Given the description of an element on the screen output the (x, y) to click on. 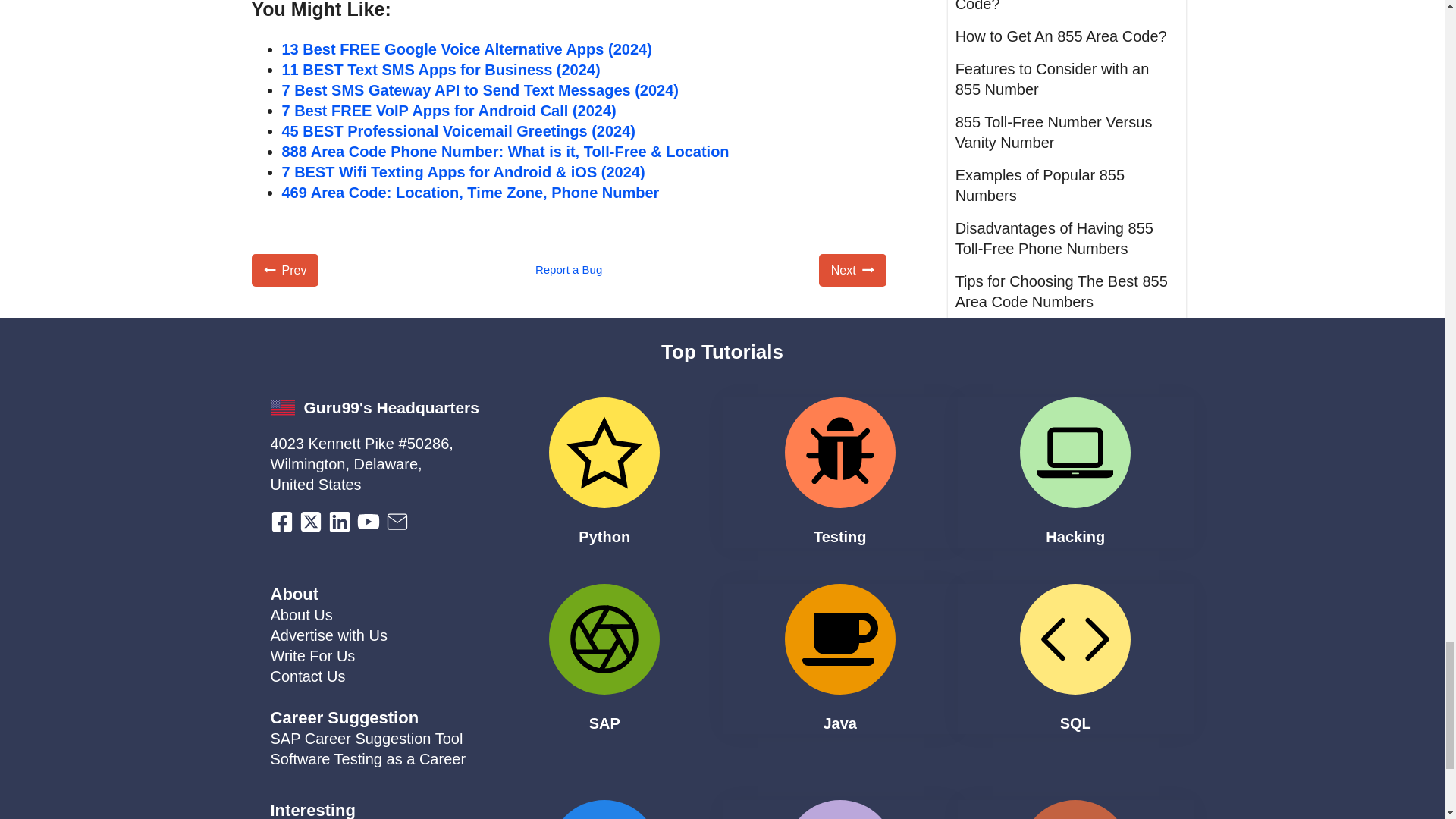
469 Area Code: Location, Time Zone, Phone Number (470, 192)
